Given the description of an element on the screen output the (x, y) to click on. 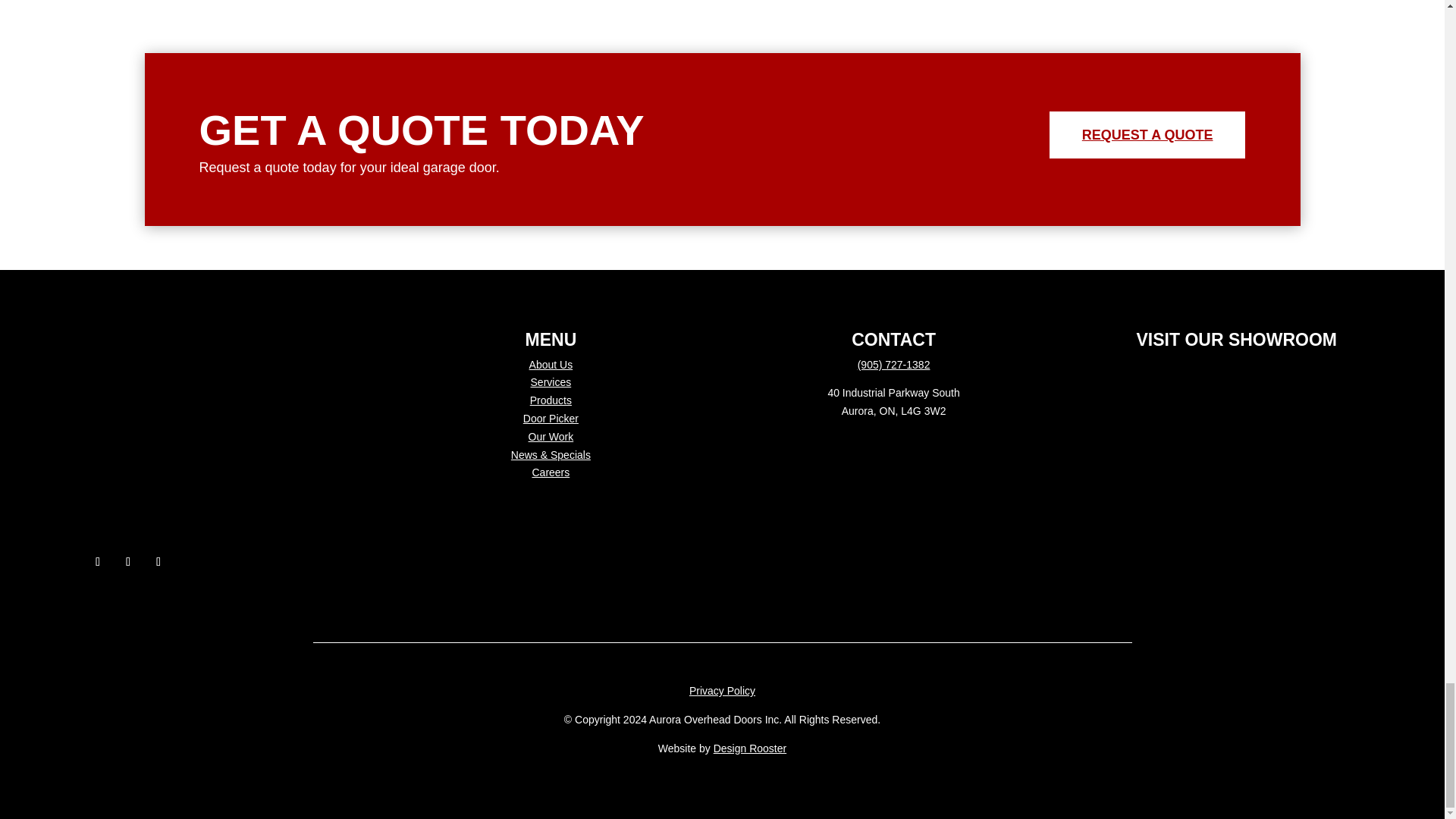
Follow on X (127, 561)
Follow on Facebook (97, 561)
Follow on Instagram (158, 561)
